Given the description of an element on the screen output the (x, y) to click on. 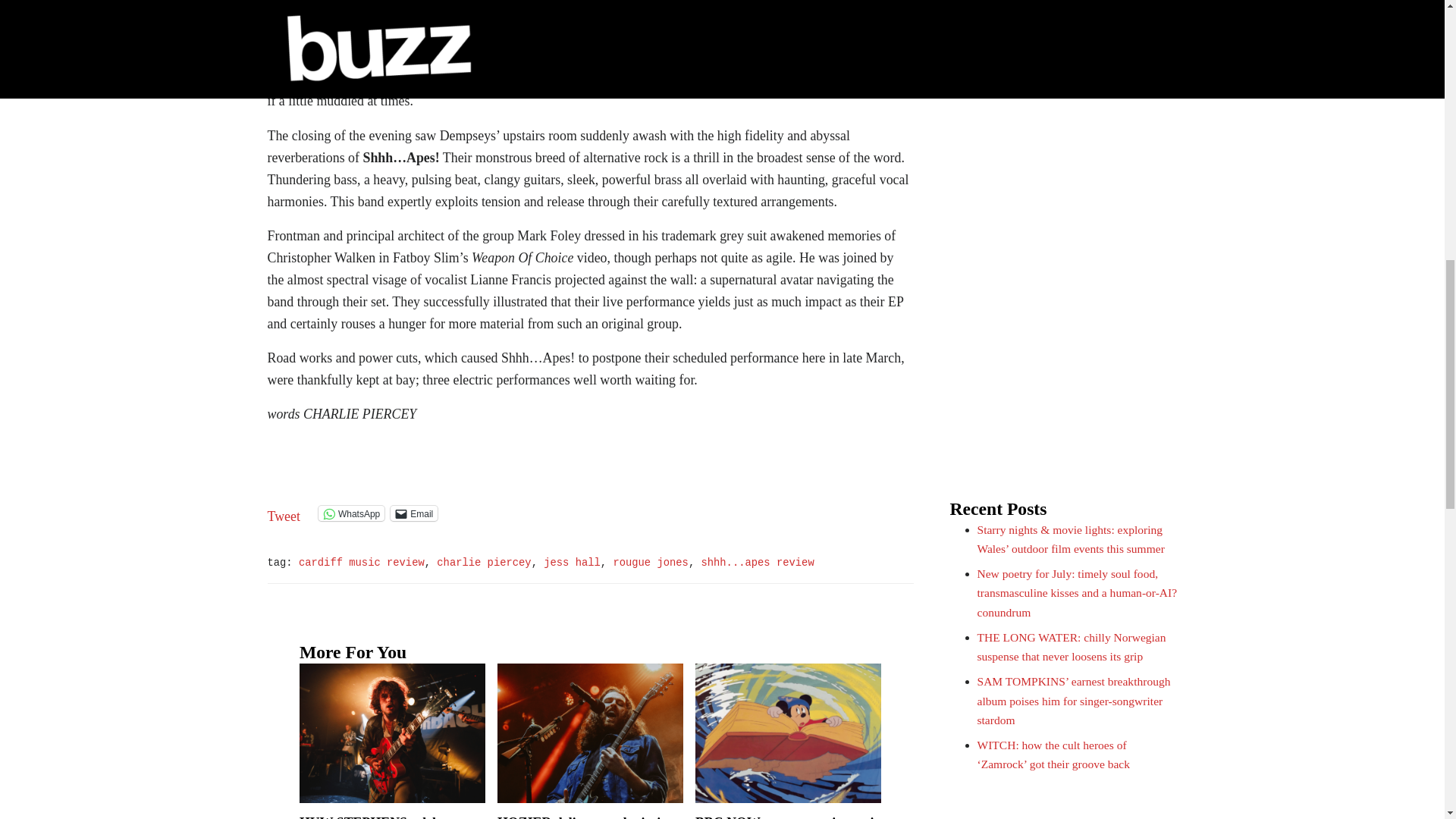
Advertisement (1062, 5)
Click to share on WhatsApp (351, 513)
Click to email a link to a friend (414, 513)
